Given the description of an element on the screen output the (x, y) to click on. 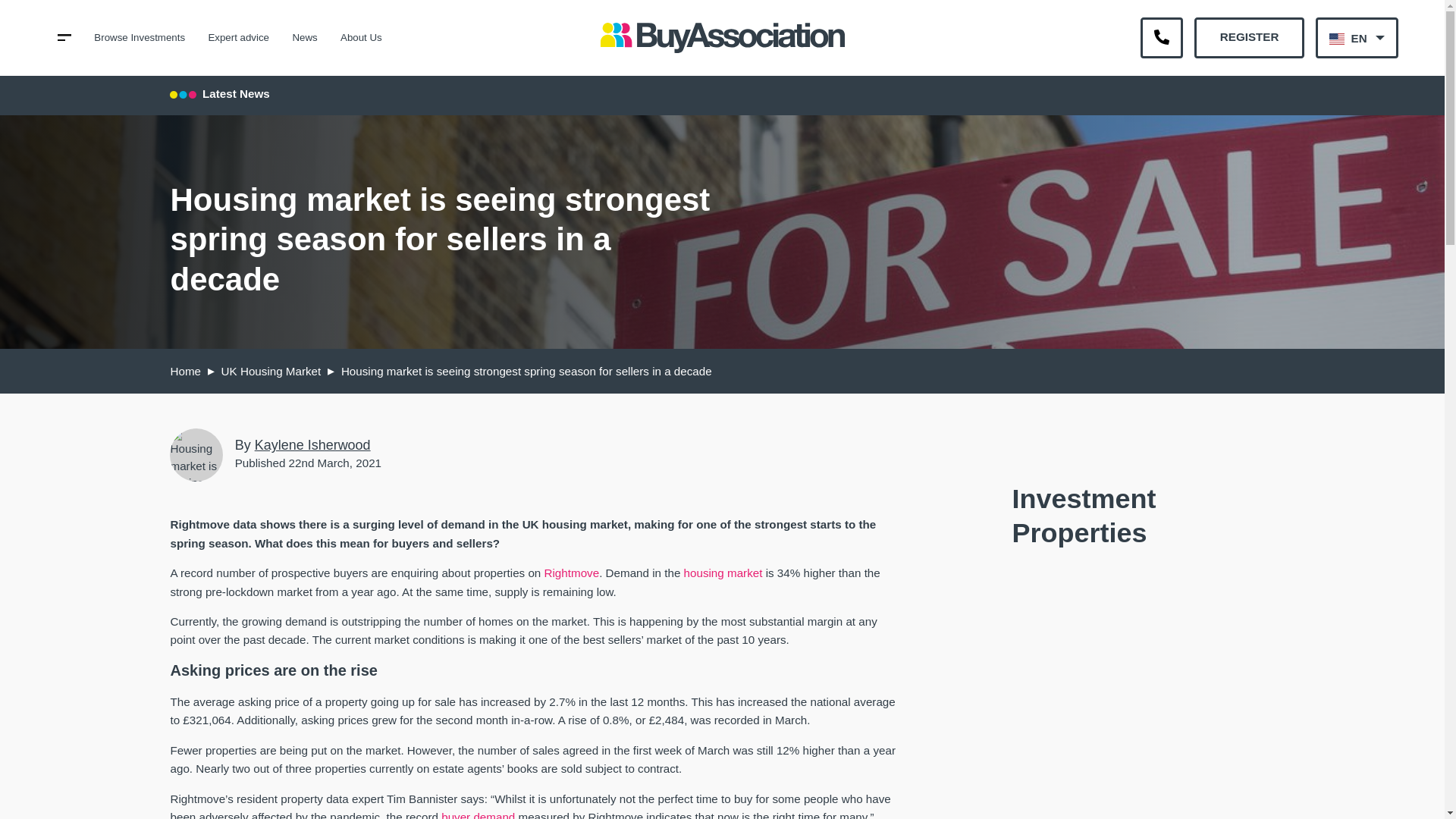
EN (1356, 37)
Rightmove (571, 572)
News (305, 38)
About Us (361, 38)
Expert advice (238, 38)
Posts by Kaylene Isherwood (312, 444)
REGISTER (1248, 37)
buyer demand (478, 814)
Home (185, 370)
housing market (723, 572)
